Given the description of an element on the screen output the (x, y) to click on. 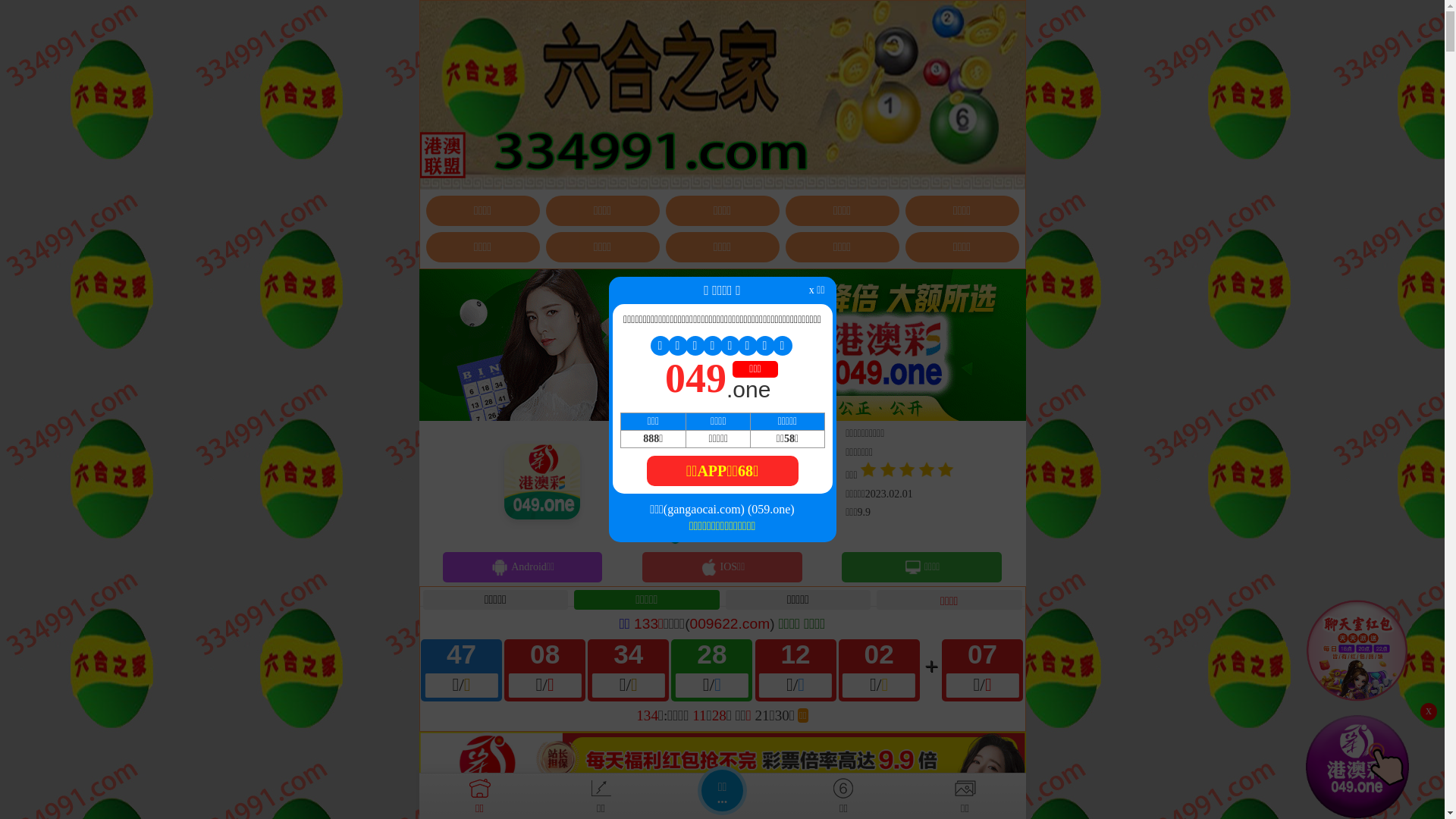
x Element type: text (1428, 711)
